Given the description of an element on the screen output the (x, y) to click on. 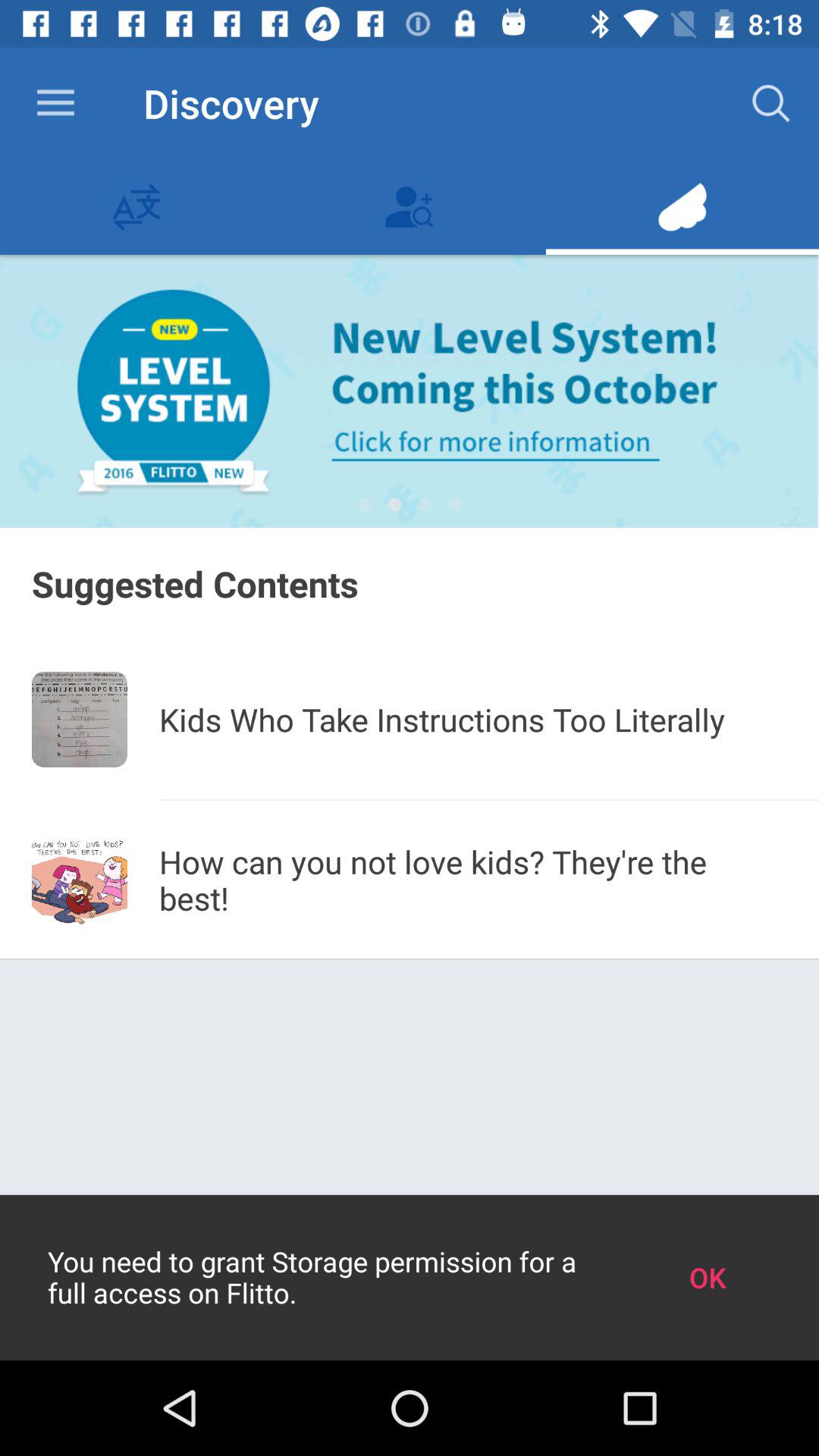
scroll until suggested contents icon (409, 583)
